Given the description of an element on the screen output the (x, y) to click on. 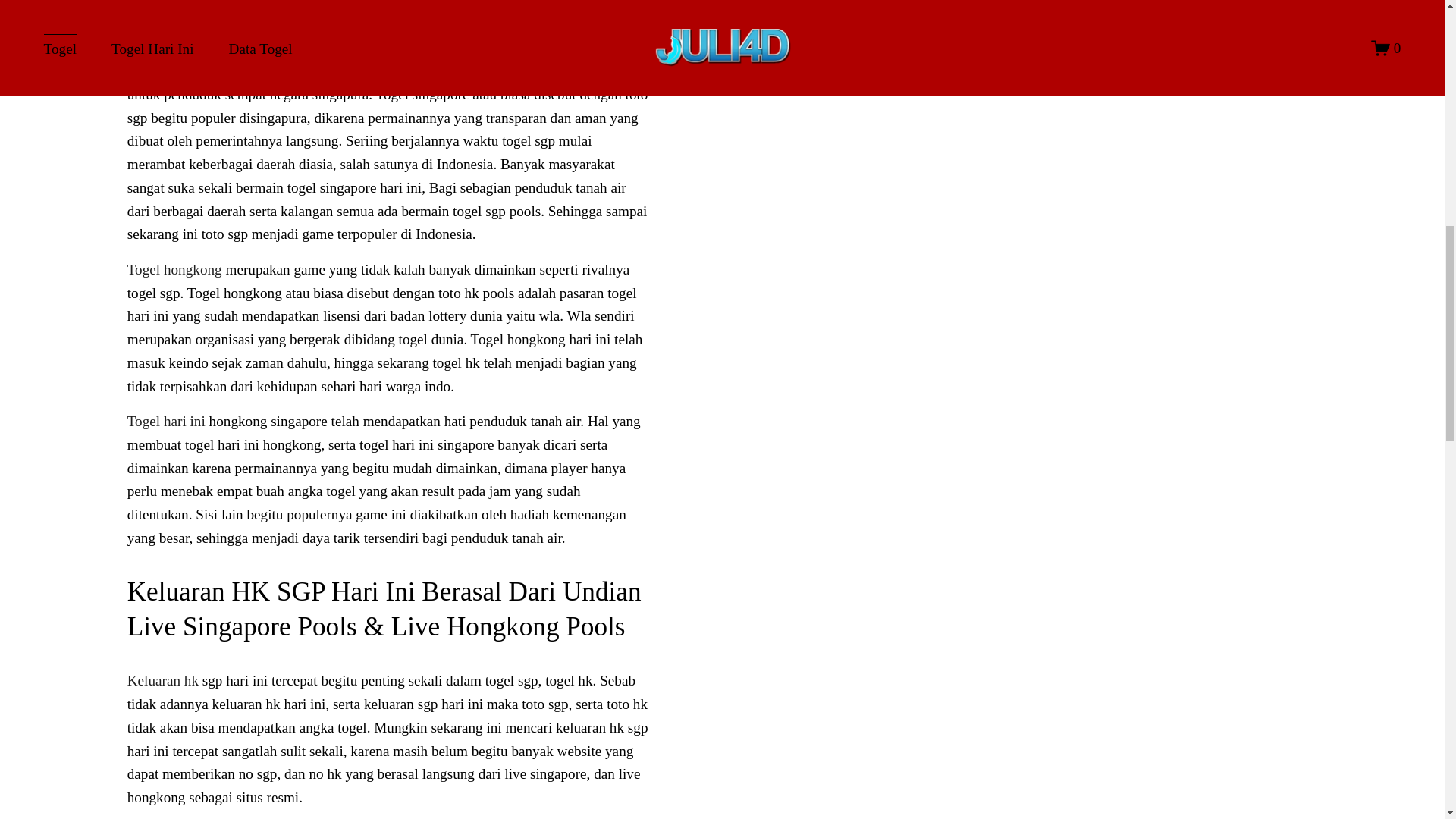
Togel singapore (174, 70)
Togel hari ini (166, 421)
Togel hongkong (175, 269)
Keluaran hk (163, 680)
